Given the description of an element on the screen output the (x, y) to click on. 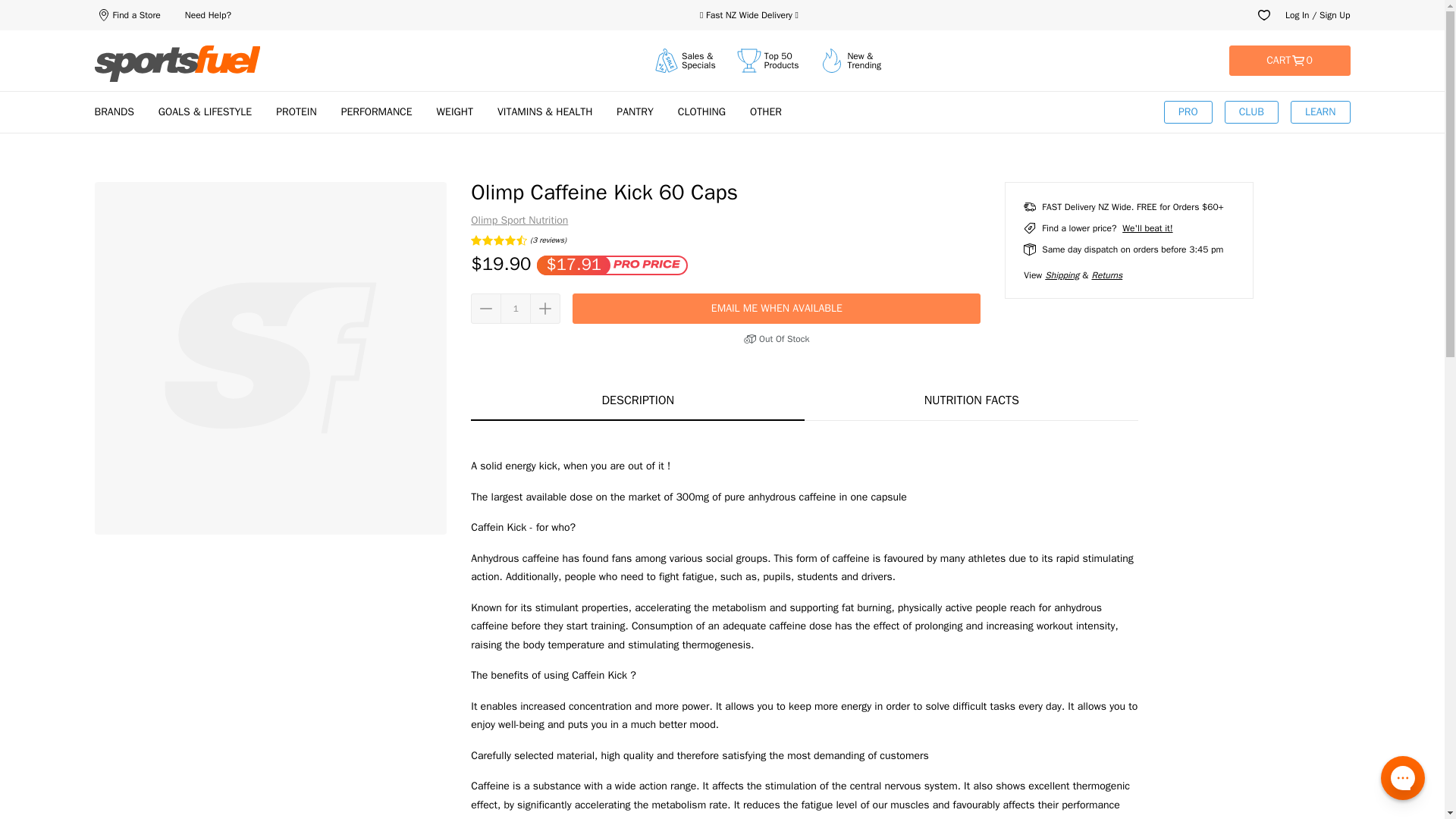
CLOTHING (701, 111)
Olimp Sport Nutrition (518, 220)
Shipping (1061, 275)
Click to see reviews (518, 240)
Find a Store (1288, 60)
We'll beat it! (126, 15)
WEIGHT (1146, 227)
1 (454, 111)
Top 50 Products (515, 308)
